Given the description of an element on the screen output the (x, y) to click on. 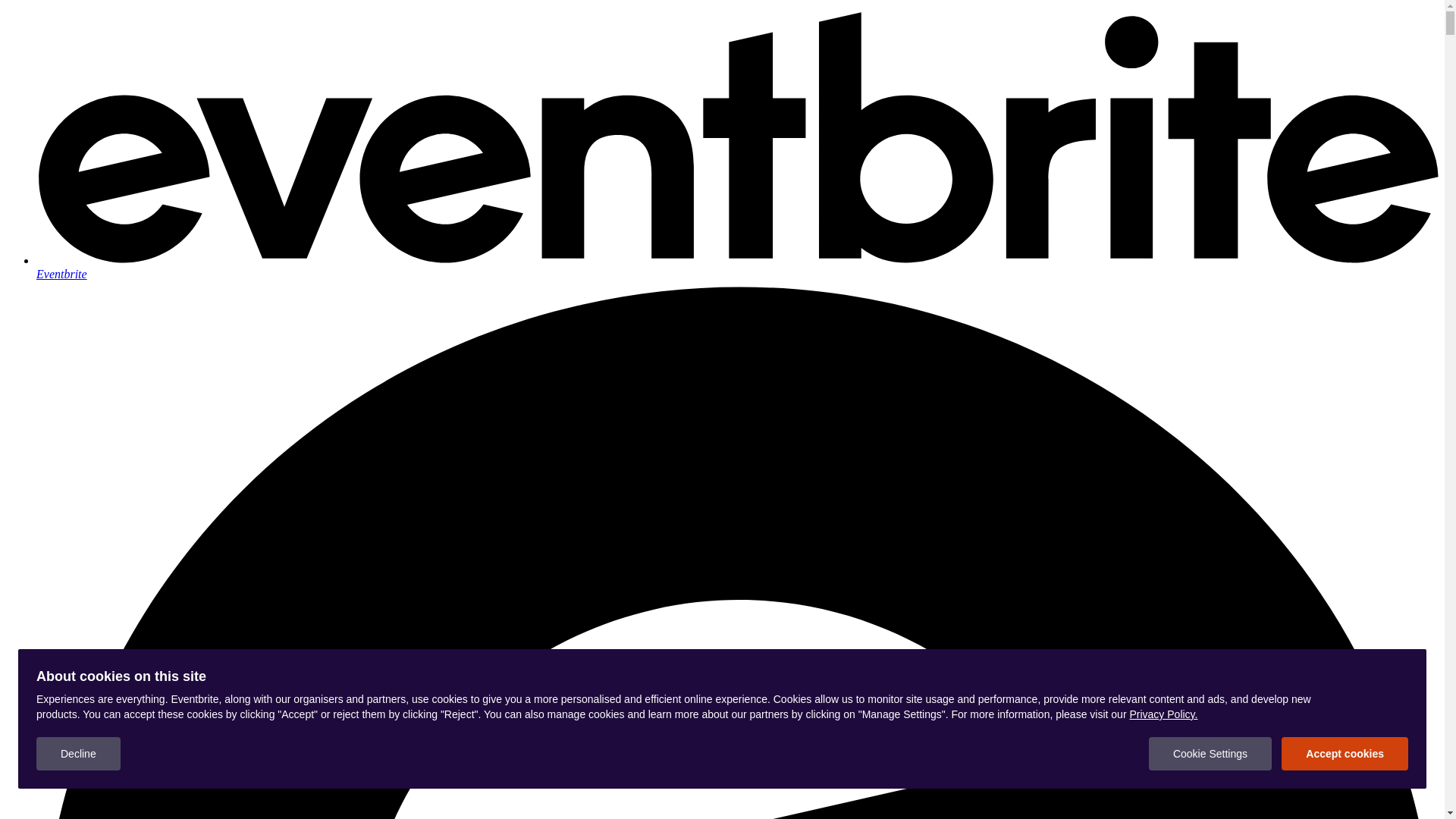
Eventbrite Element type: text (737, 267)
Decline Element type: text (78, 753)
Accept cookies Element type: text (1344, 753)
Privacy Policy. Element type: text (1163, 714)
Cookie Settings Element type: text (1209, 753)
